Given the description of an element on the screen output the (x, y) to click on. 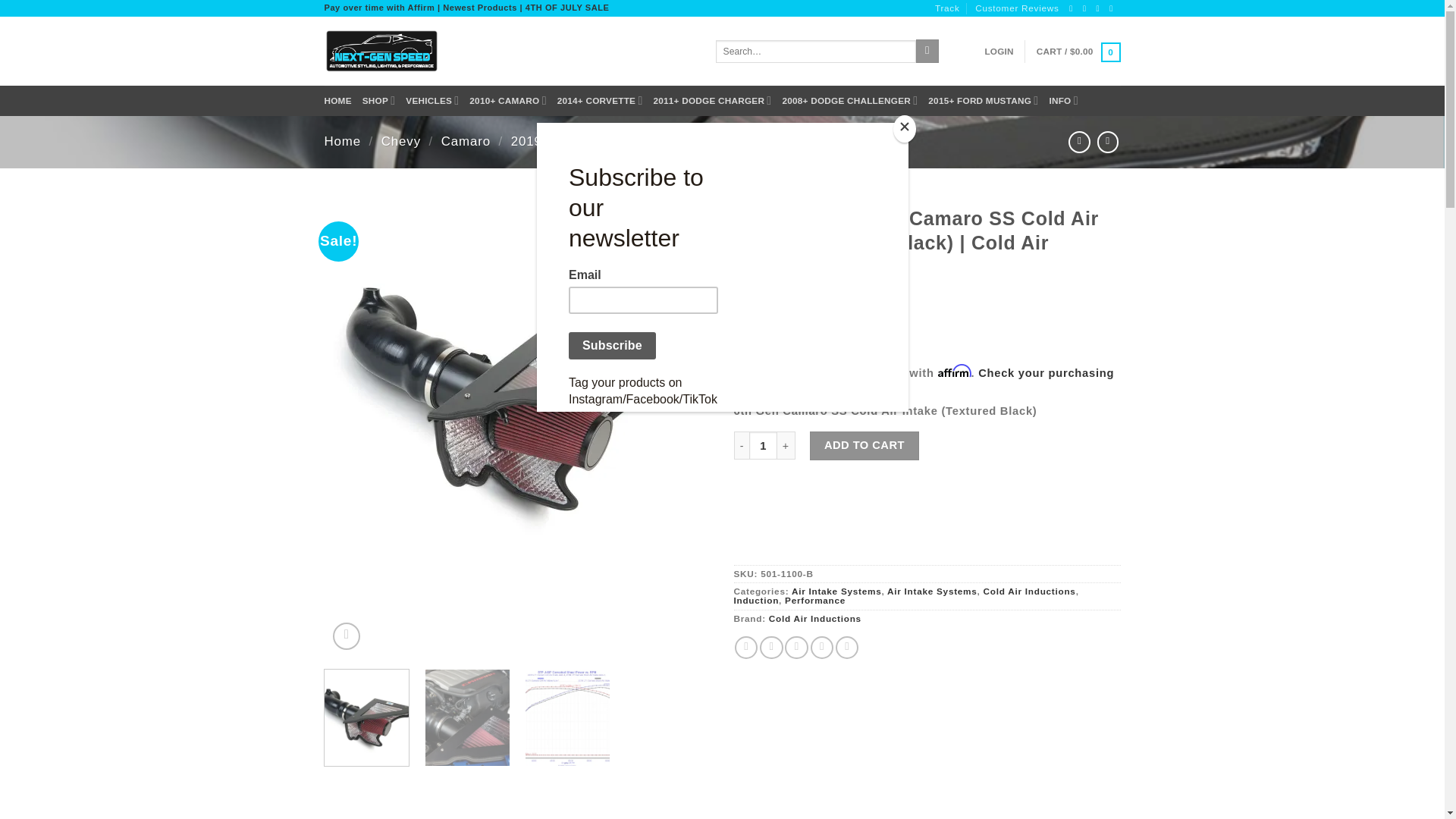
1 (763, 445)
Track (946, 8)
Send us an email (1086, 8)
Follow on YouTube (1113, 8)
HOME (338, 100)
Customer Reviews (1017, 8)
Zoom (346, 636)
Newest Products (479, 7)
Search (927, 51)
Cart (1078, 51)
SHOP (379, 100)
Call us (1100, 8)
Follow on Facebook (1072, 8)
